Given the description of an element on the screen output the (x, y) to click on. 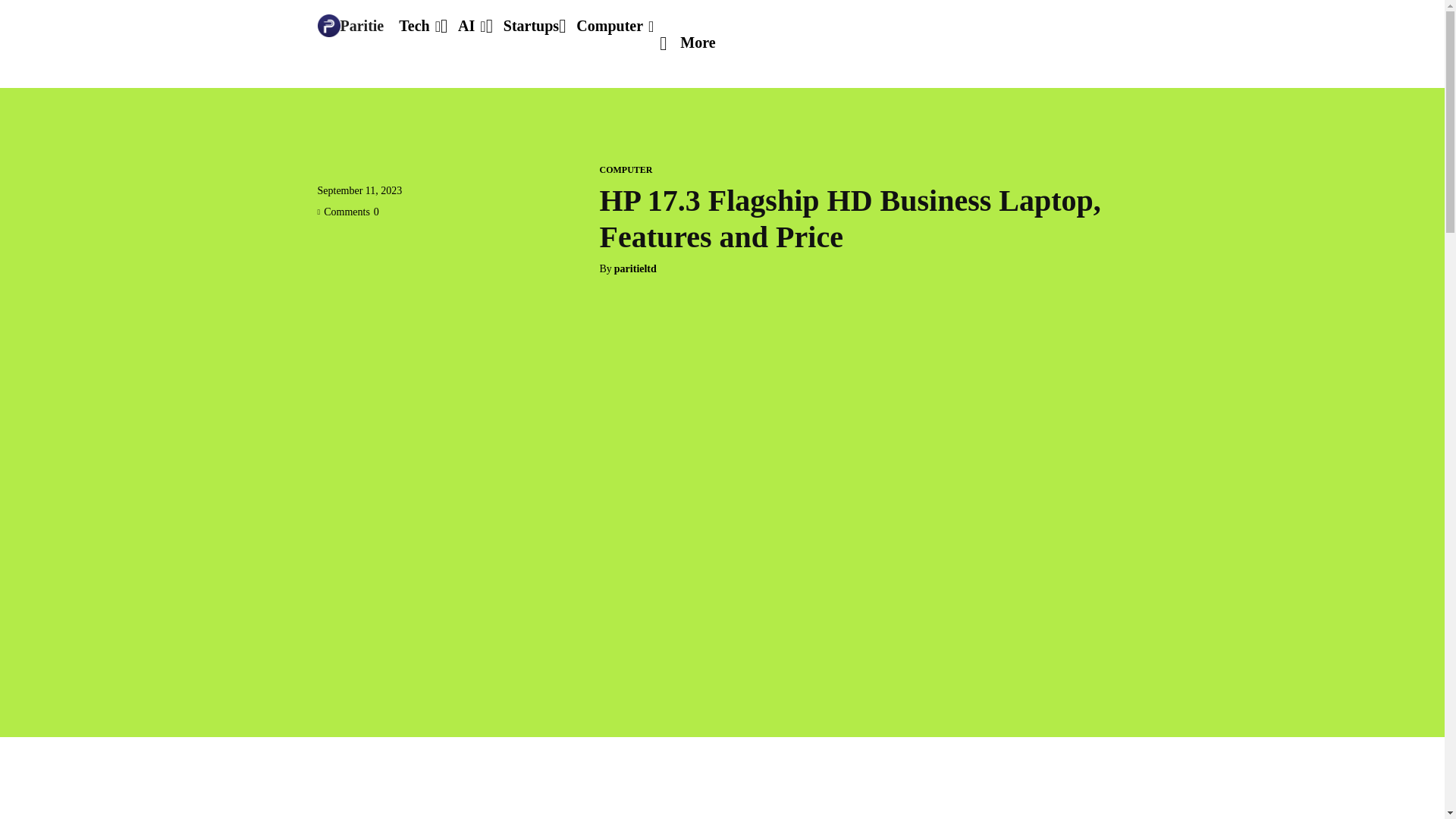
Tech (419, 25)
Startups (531, 25)
Paritie (350, 25)
Computer (614, 25)
